Given the description of an element on the screen output the (x, y) to click on. 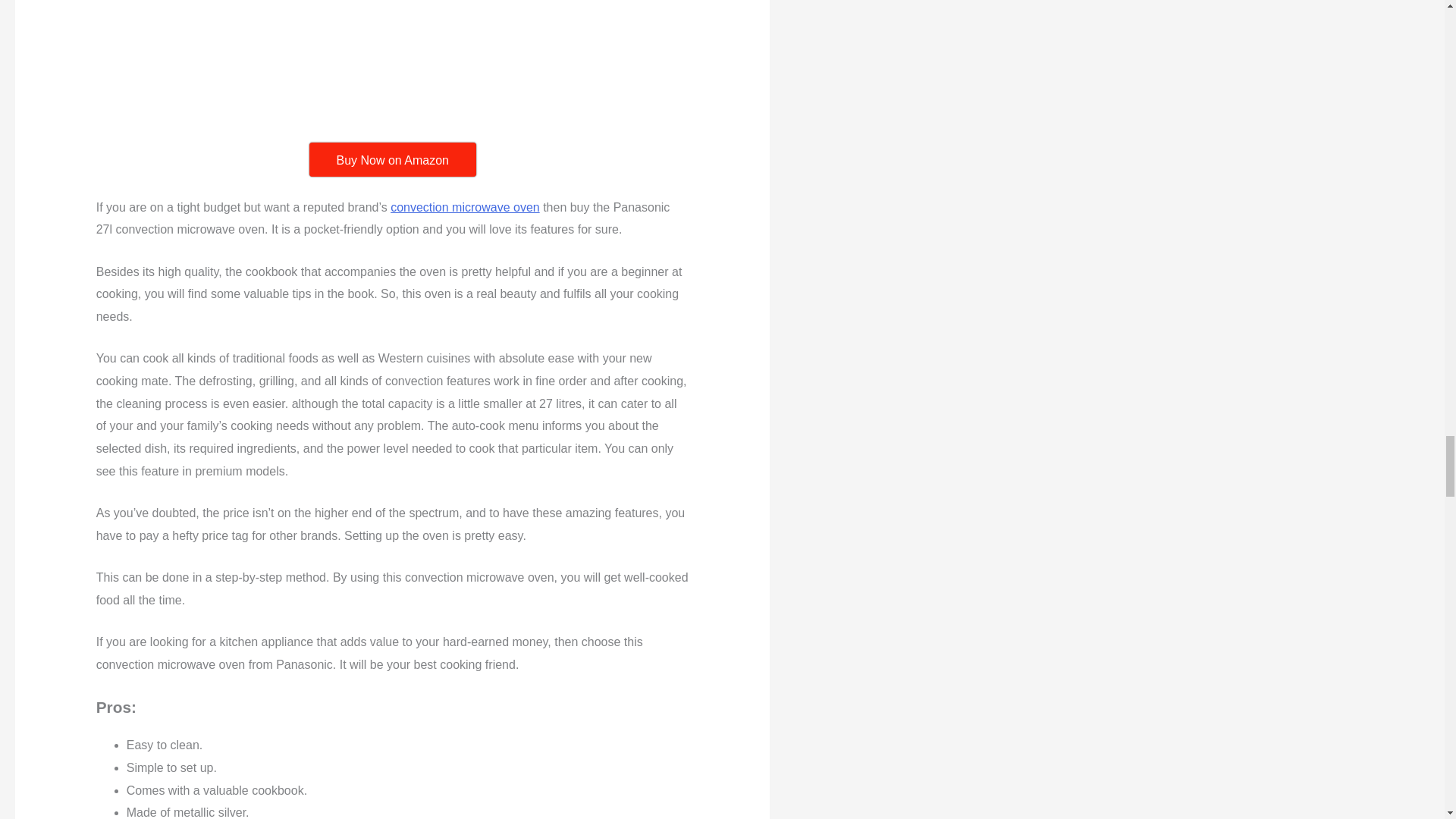
Buy Now on Amazon (392, 159)
convection microwave oven (465, 206)
